Given the description of an element on the screen output the (x, y) to click on. 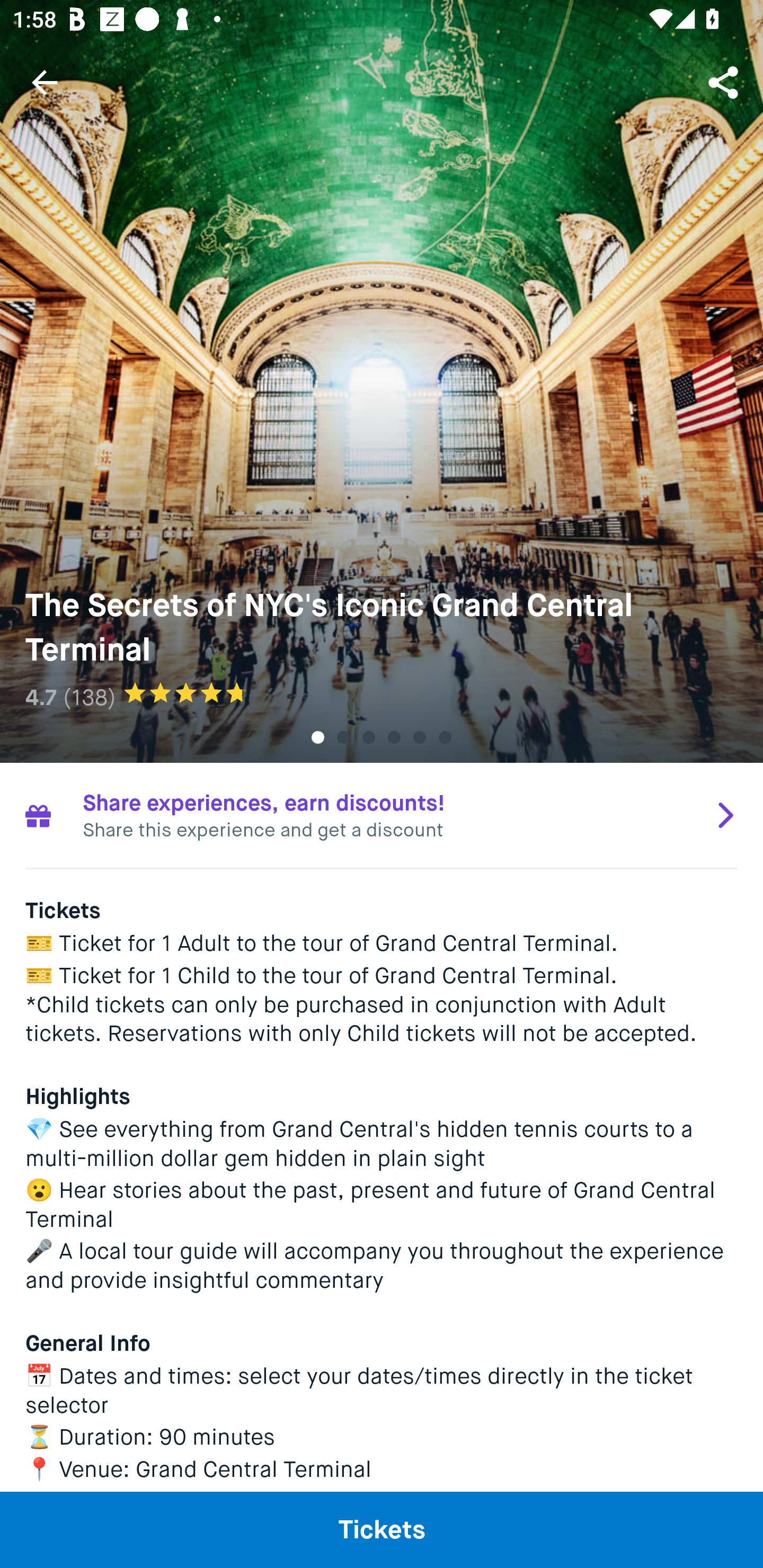
Navigate up (44, 82)
Share (724, 81)
(138) (89, 697)
Tickets (381, 1529)
